Given the description of an element on the screen output the (x, y) to click on. 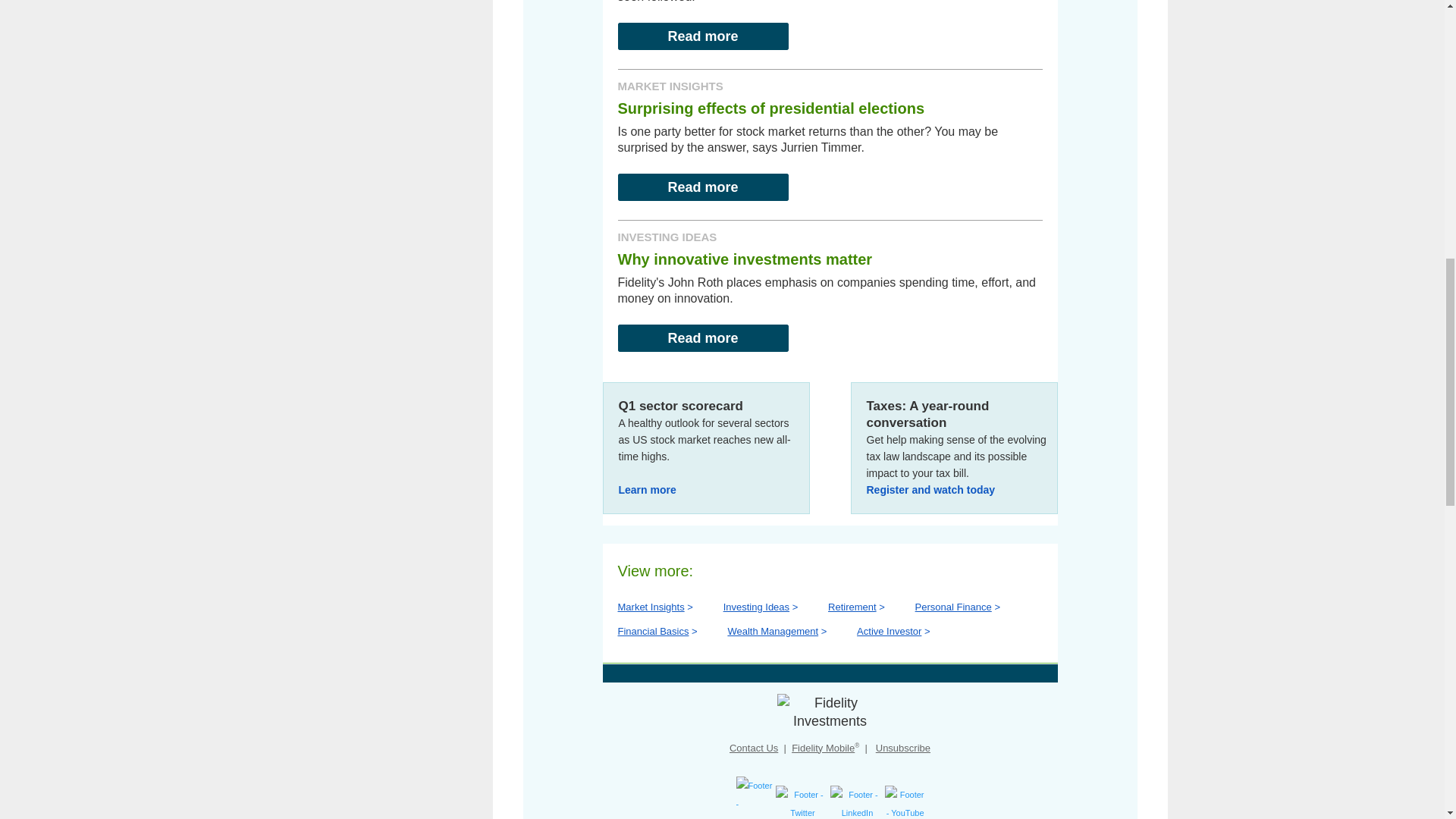
Unsubscribe (903, 747)
Read more (702, 338)
Contact Us (753, 747)
Personal Finance (953, 605)
Market Insights (650, 605)
Read more (702, 185)
Surprising effects of presidential elections (770, 108)
Active Investor (889, 630)
Register and watch today (930, 486)
Why innovative investments matter (744, 258)
